Given the description of an element on the screen output the (x, y) to click on. 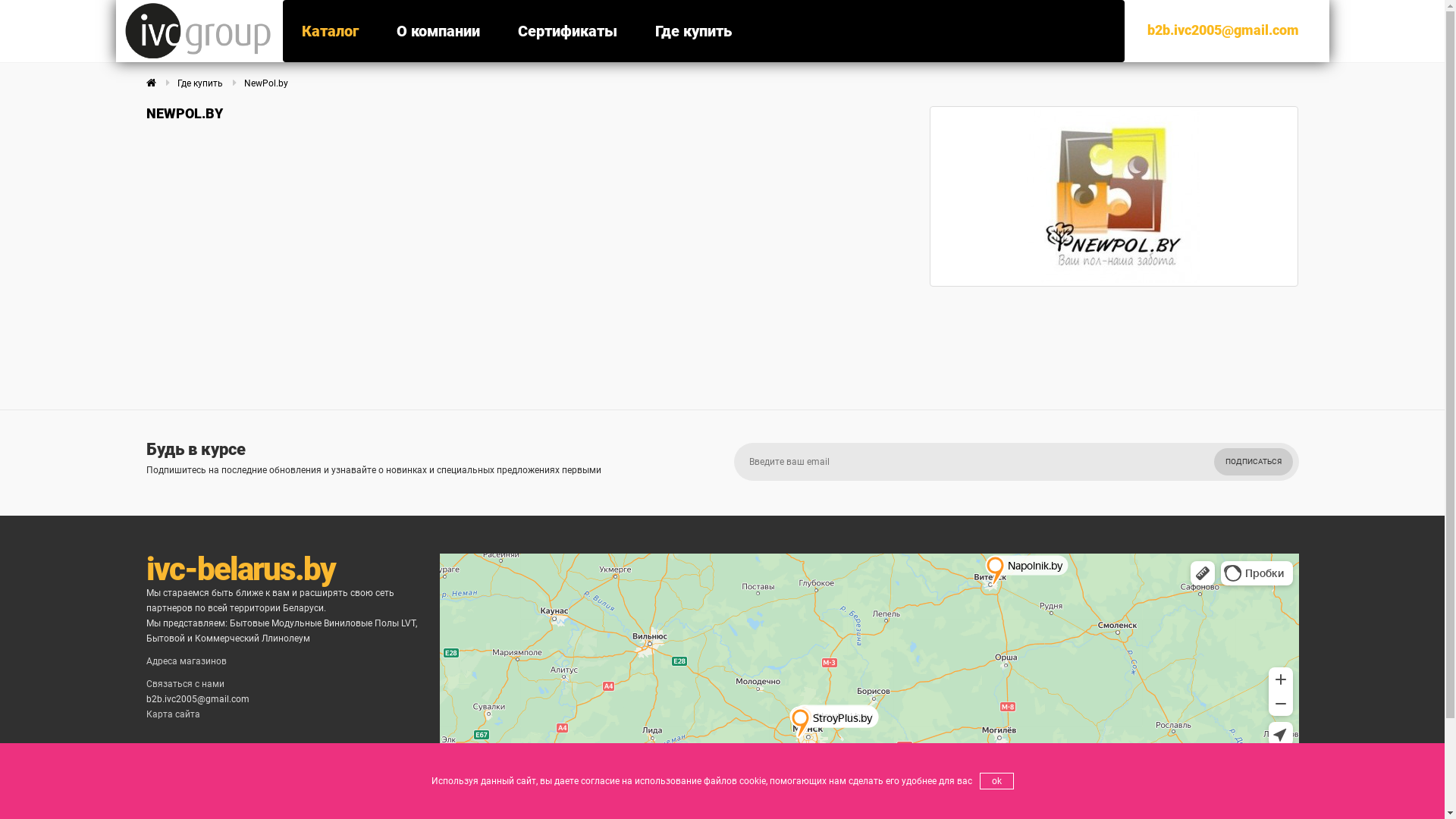
b2b.ivc2005@gmail.com Element type: text (1222, 29)
NewPol.by Element type: hover (1114, 196)
NewPol.by Element type: text (266, 83)
NewPol.by Element type: hover (1113, 195)
